Given the description of an element on the screen output the (x, y) to click on. 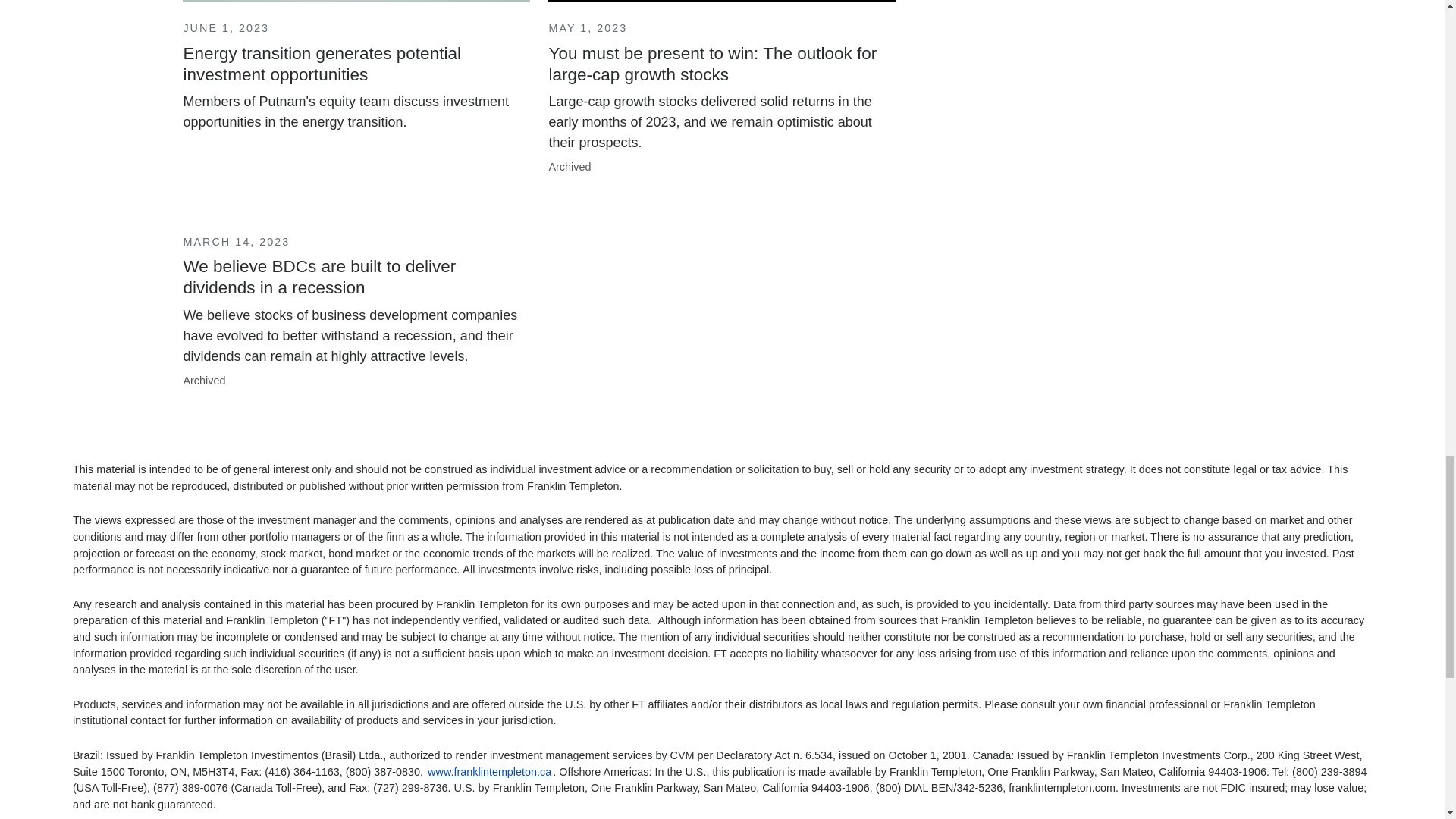
www.franklintempleton.ca (489, 771)
